Given the description of an element on the screen output the (x, y) to click on. 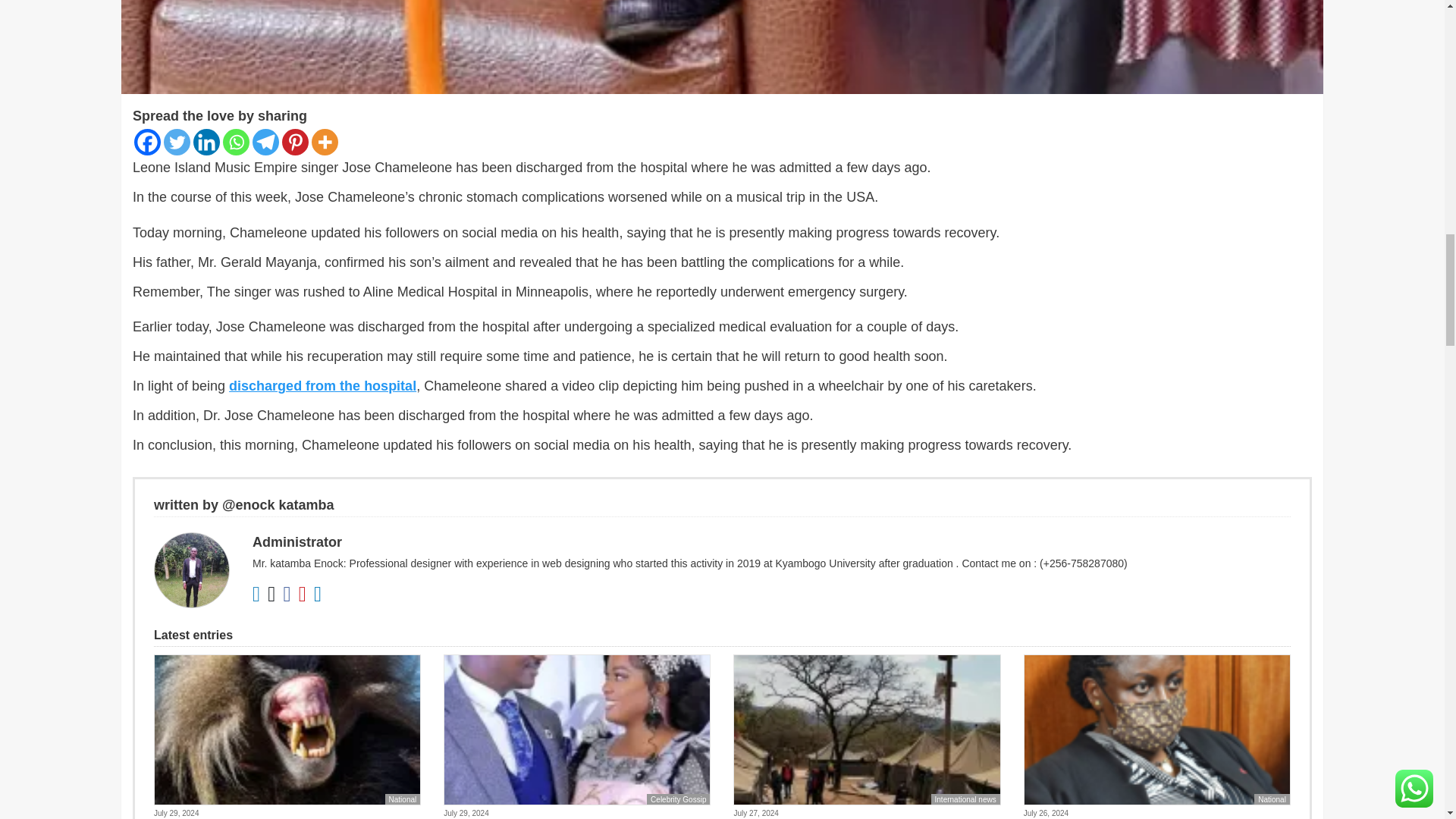
Facebook (146, 141)
Telegram (265, 141)
National (402, 798)
Twitter (176, 141)
Pinterest (295, 141)
discharged from the hospital (322, 385)
More (324, 141)
Whatsapp (235, 141)
Linkedin (206, 141)
